Given the description of an element on the screen output the (x, y) to click on. 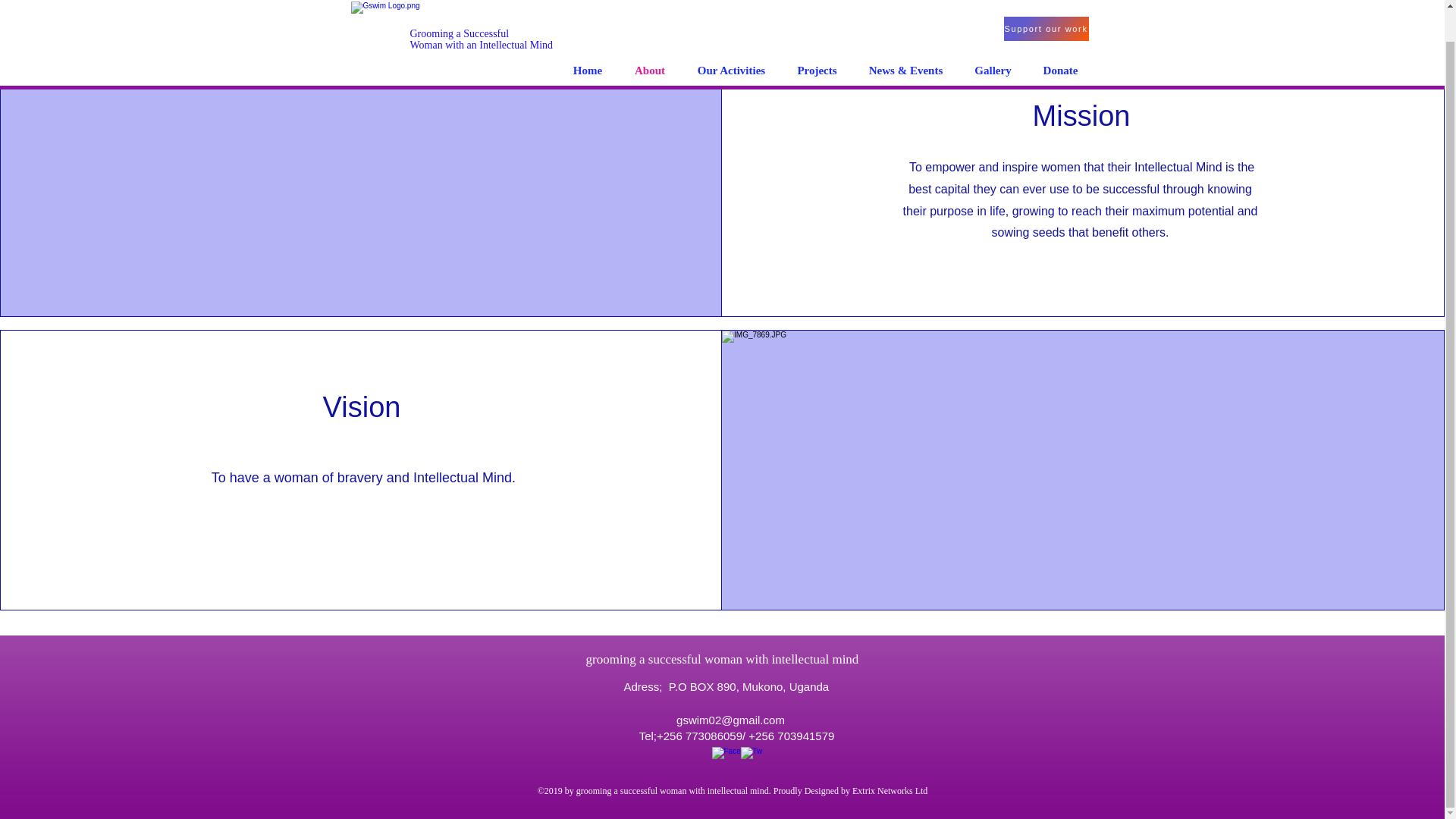
Home (586, 37)
Our Activities (674, 200)
Our Activities (730, 37)
Gallery (992, 37)
Projects (481, 9)
Donate (815, 37)
About (1059, 37)
Support our work (649, 37)
Home (1046, 4)
